Given the description of an element on the screen output the (x, y) to click on. 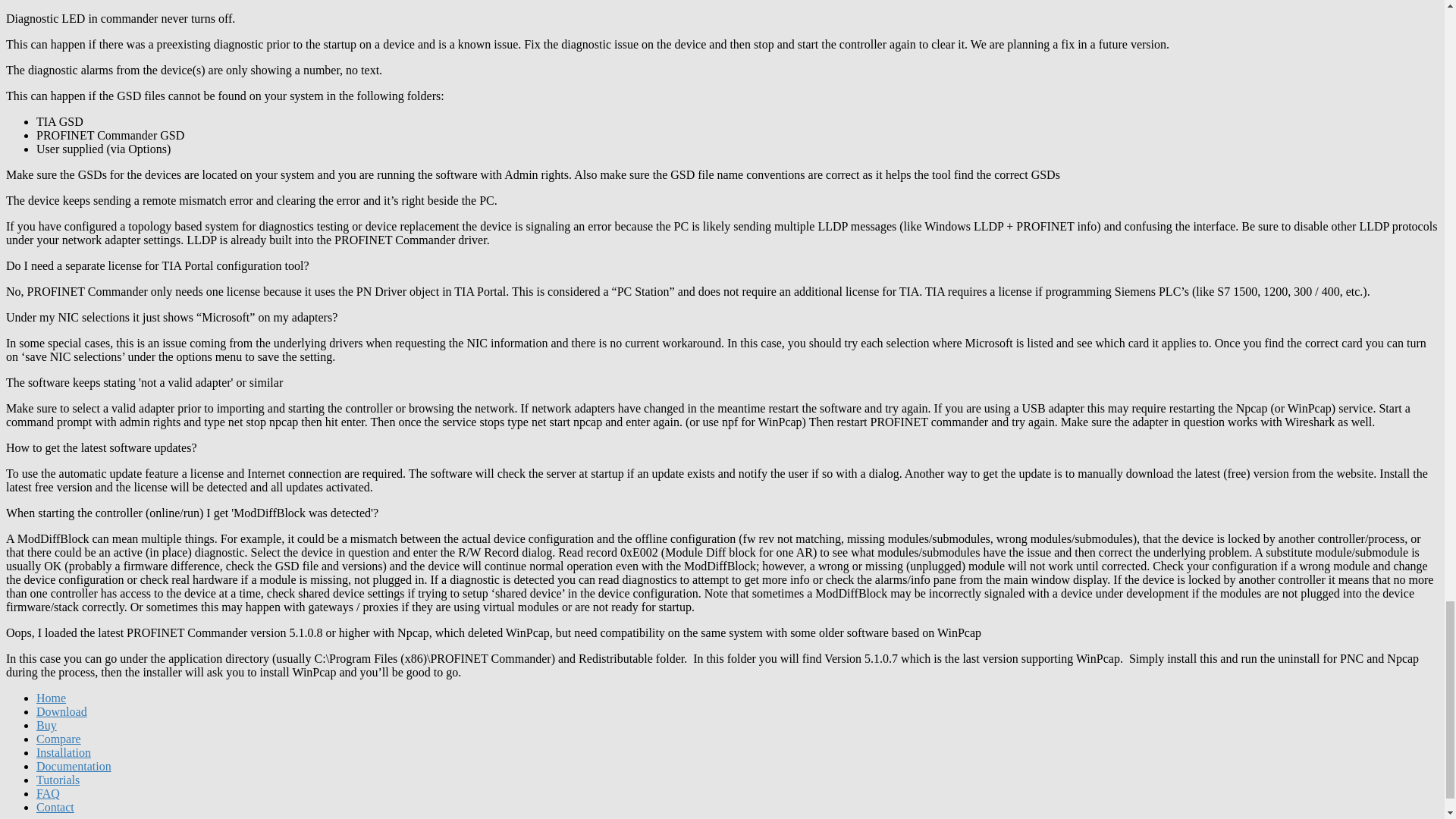
Documentation (74, 766)
Installation (63, 752)
Buy (46, 725)
Contact (55, 807)
Home (50, 697)
Tutorials (58, 779)
FAQ (47, 793)
Download (61, 711)
Compare (58, 738)
